Given the description of an element on the screen output the (x, y) to click on. 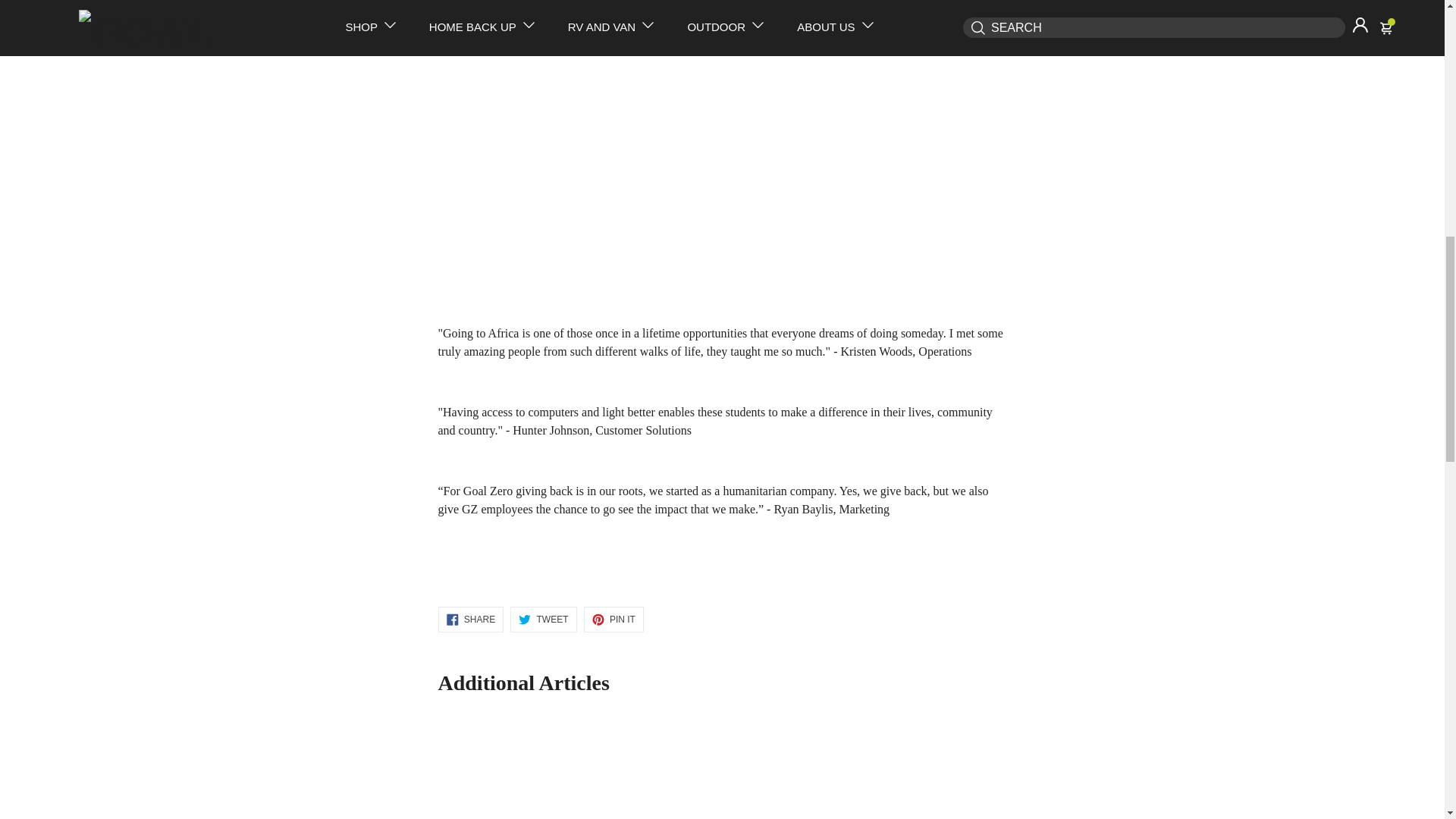
Tweet on Twitter (543, 619)
Share on Facebook (470, 619)
Pin on Pinterest (613, 619)
